Given the description of an element on the screen output the (x, y) to click on. 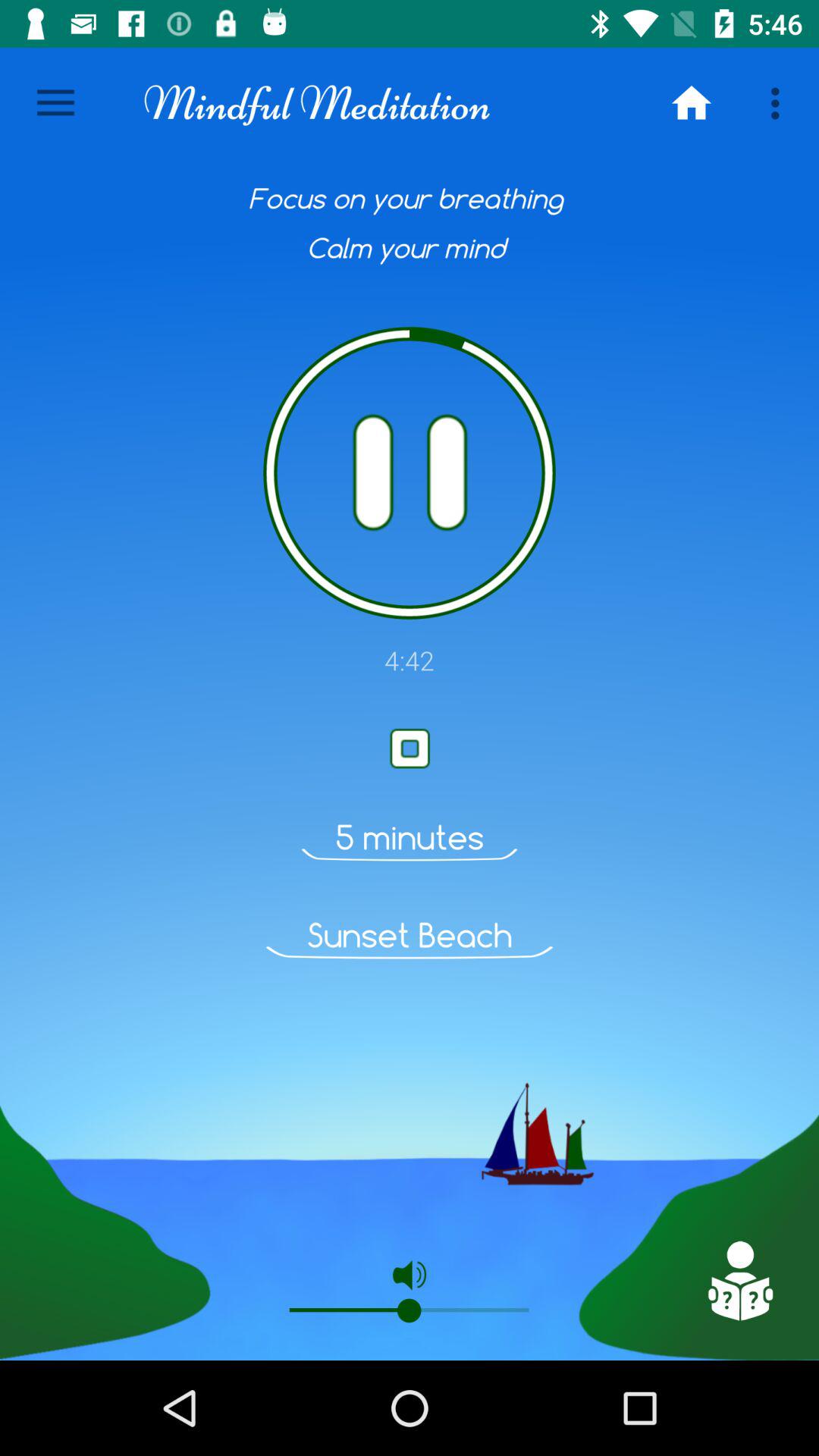
play button (409, 748)
